Given the description of an element on the screen output the (x, y) to click on. 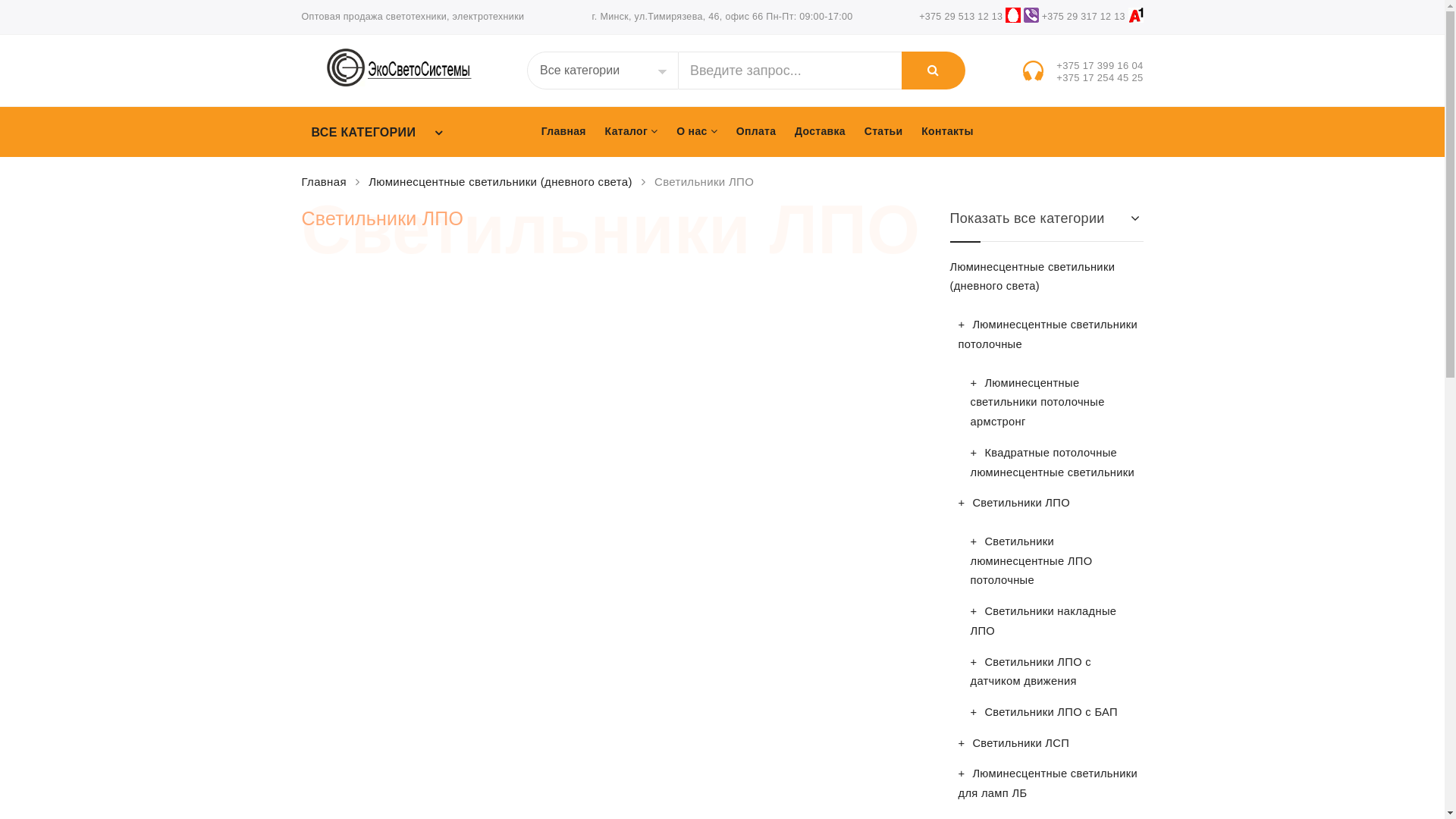
+375 29 317 12 13 Element type: text (1083, 16)
+375 29 513 12 13 Element type: text (960, 16)
Viber Element type: hover (1030, 16)
Skip to content Element type: text (300, 156)
